Given the description of an element on the screen output the (x, y) to click on. 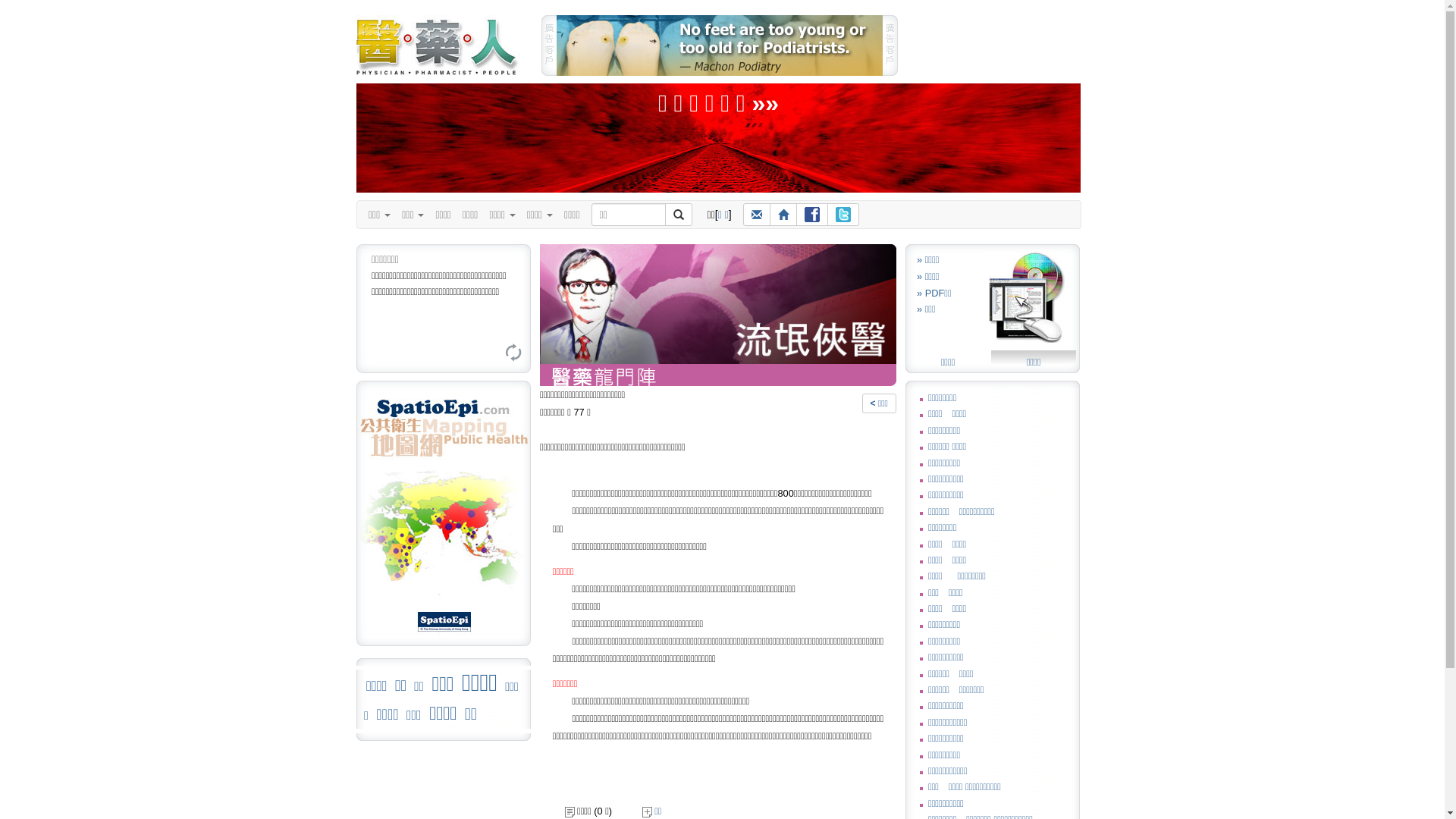
Facebook Element type: hover (812, 214)
Twitter Element type: hover (843, 214)
